Given the description of an element on the screen output the (x, y) to click on. 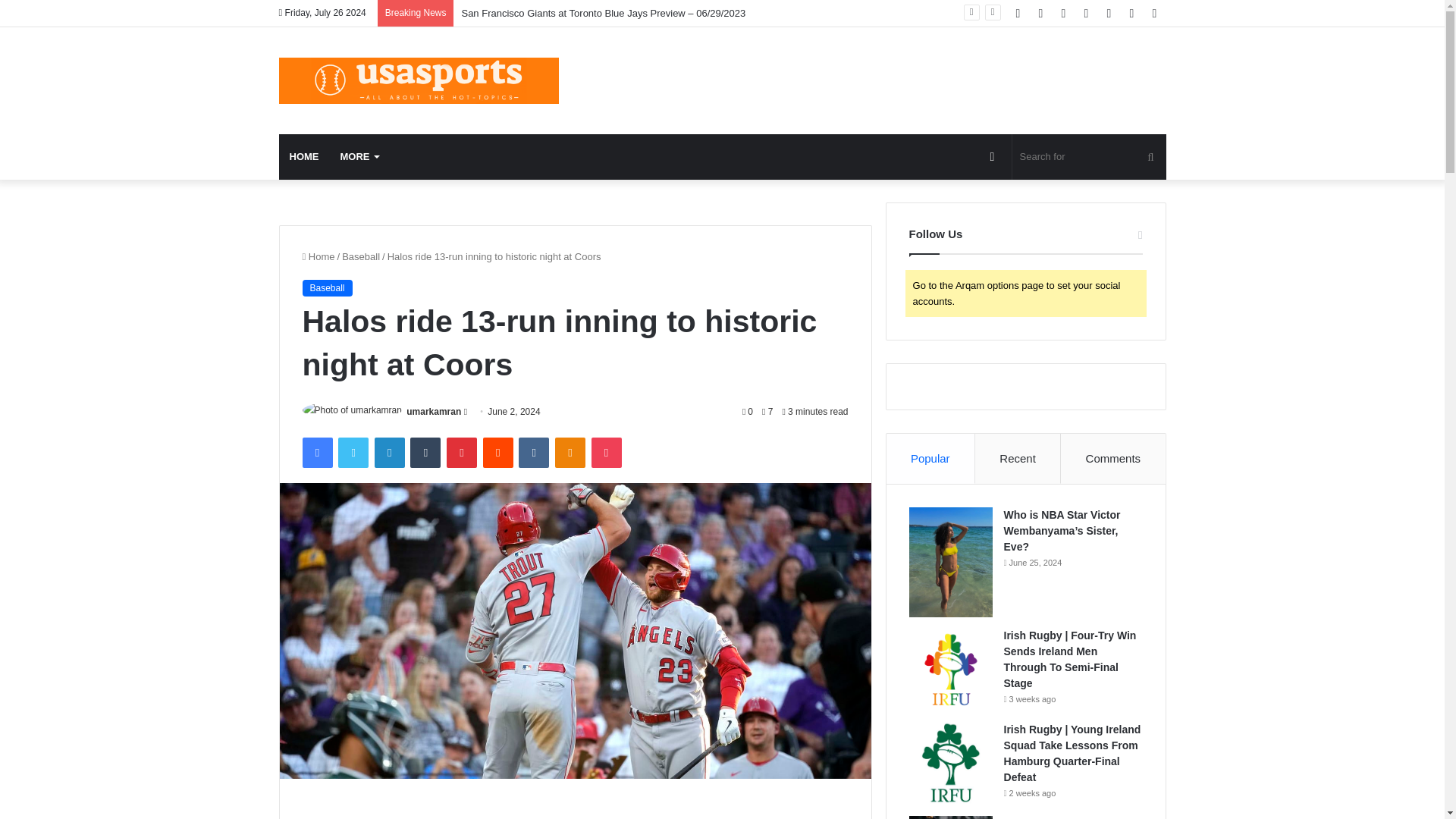
Odnoklassniki (569, 452)
HOME (304, 156)
Reddit (498, 452)
MORE (358, 156)
USA Sports (419, 80)
Search for (1088, 156)
LinkedIn (389, 452)
Pocket (606, 452)
VKontakte (533, 452)
Pinterest (461, 452)
umarkamran (433, 411)
Tumblr (425, 452)
Facebook (316, 452)
Twitter (352, 452)
Home (317, 256)
